Given the description of an element on the screen output the (x, y) to click on. 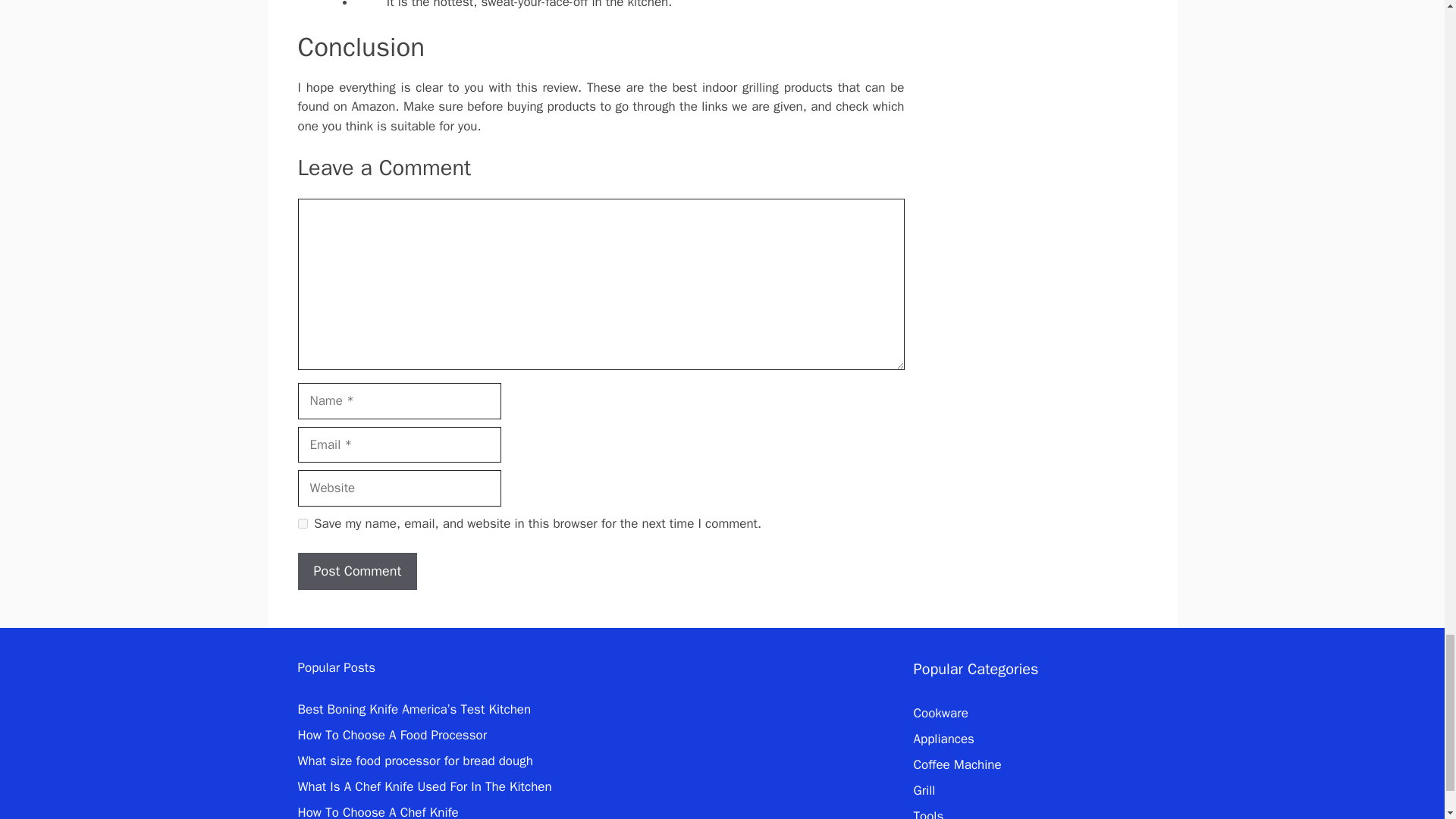
yes (302, 523)
Post Comment (356, 570)
Post Comment (356, 570)
